Given the description of an element on the screen output the (x, y) to click on. 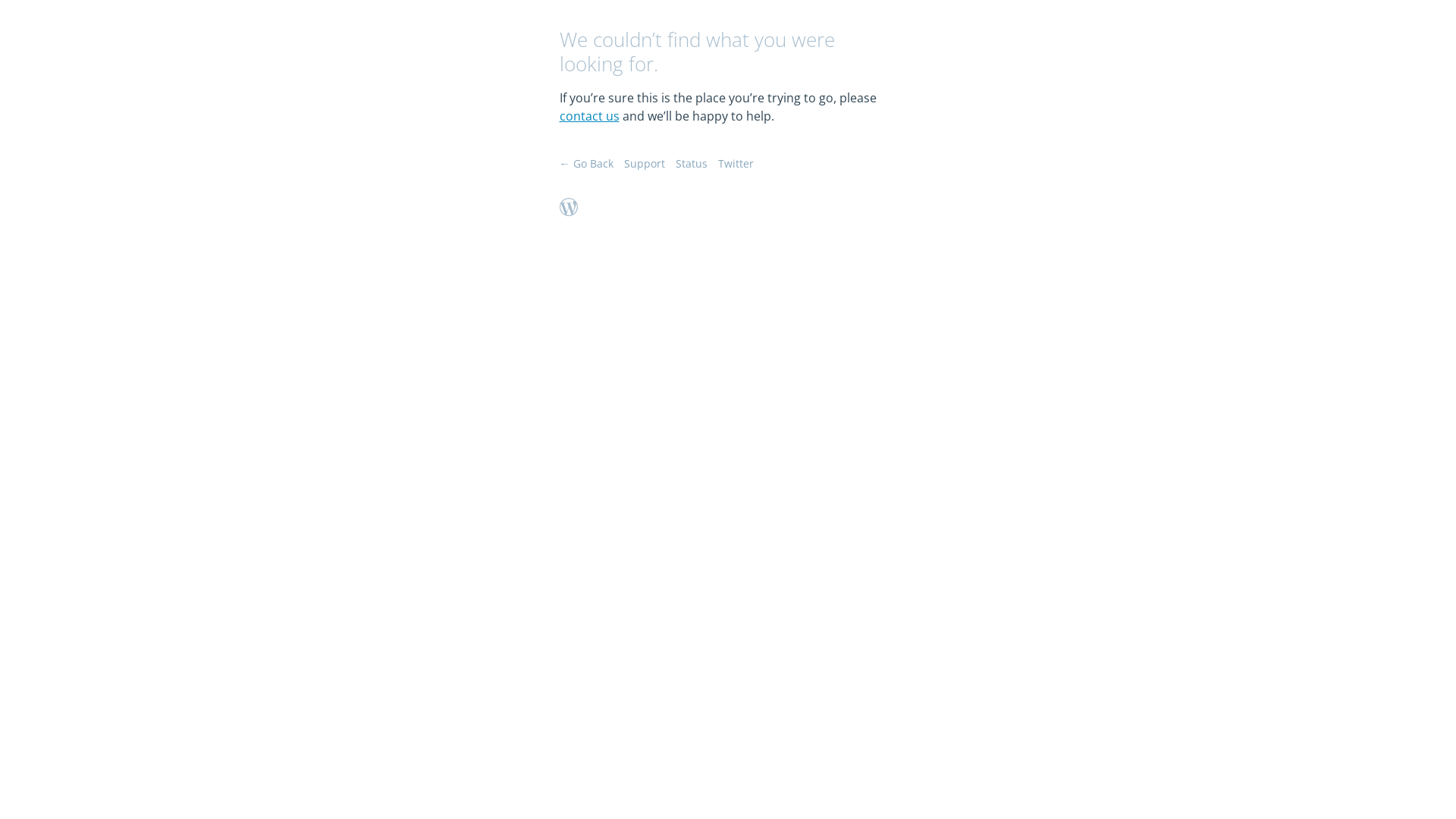
contact us Element type: text (589, 115)
Support Element type: text (643, 163)
Twitter Element type: text (735, 163)
Status Element type: text (690, 163)
